Given the description of an element on the screen output the (x, y) to click on. 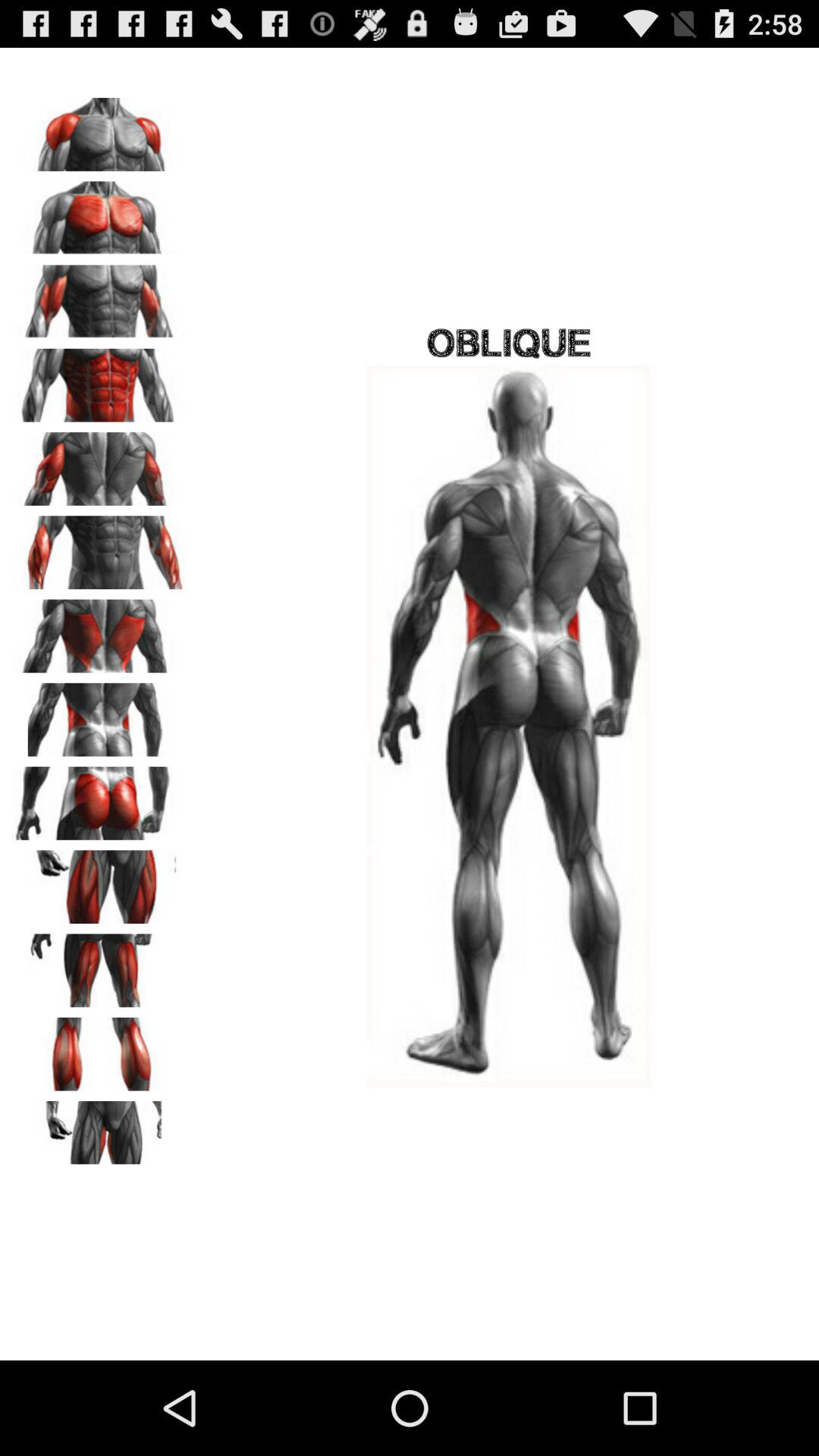
calves (99, 1048)
